Given the description of an element on the screen output the (x, y) to click on. 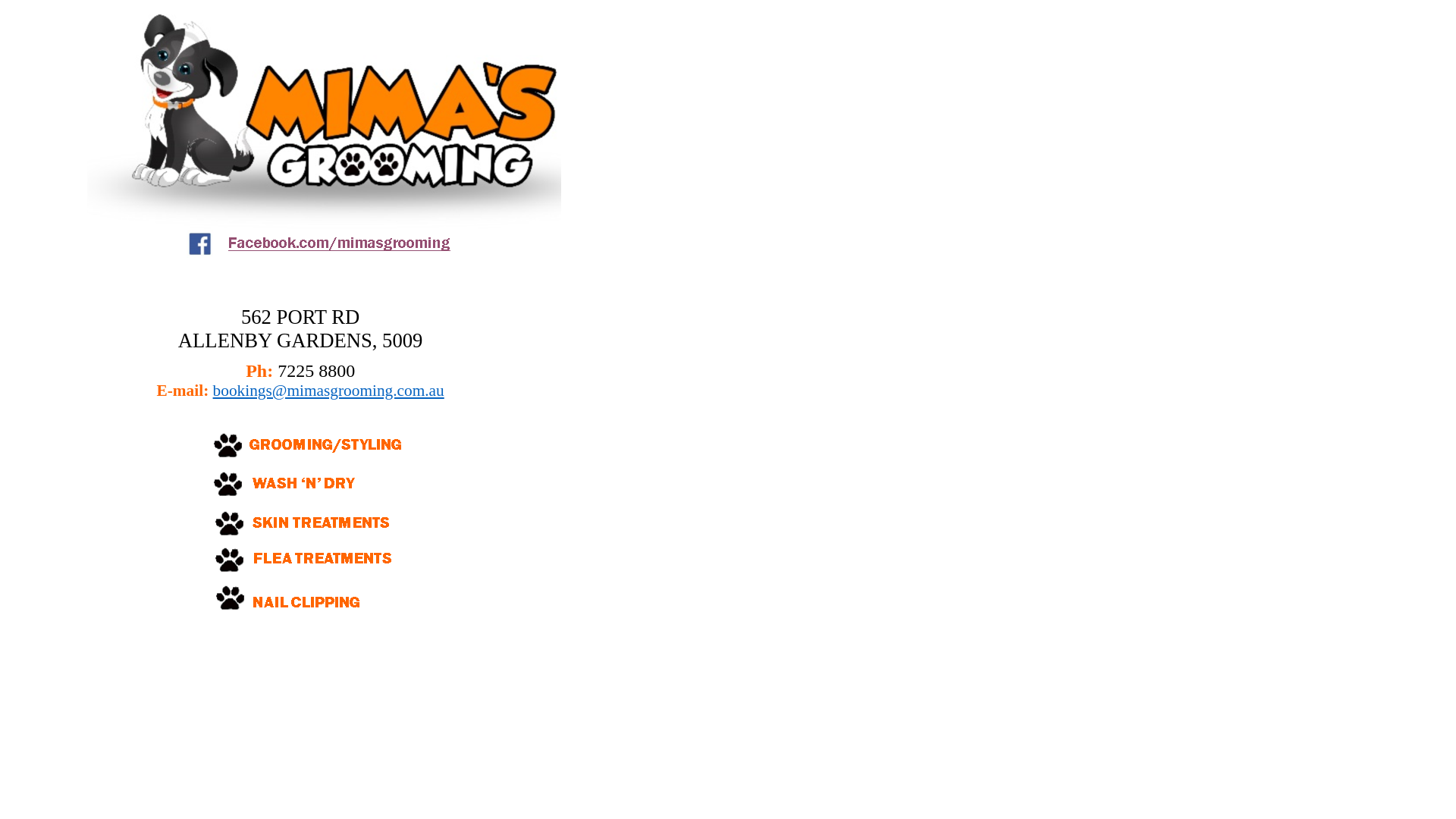
bookings@mimasgrooming.com.au Element type: text (328, 390)
